Given the description of an element on the screen output the (x, y) to click on. 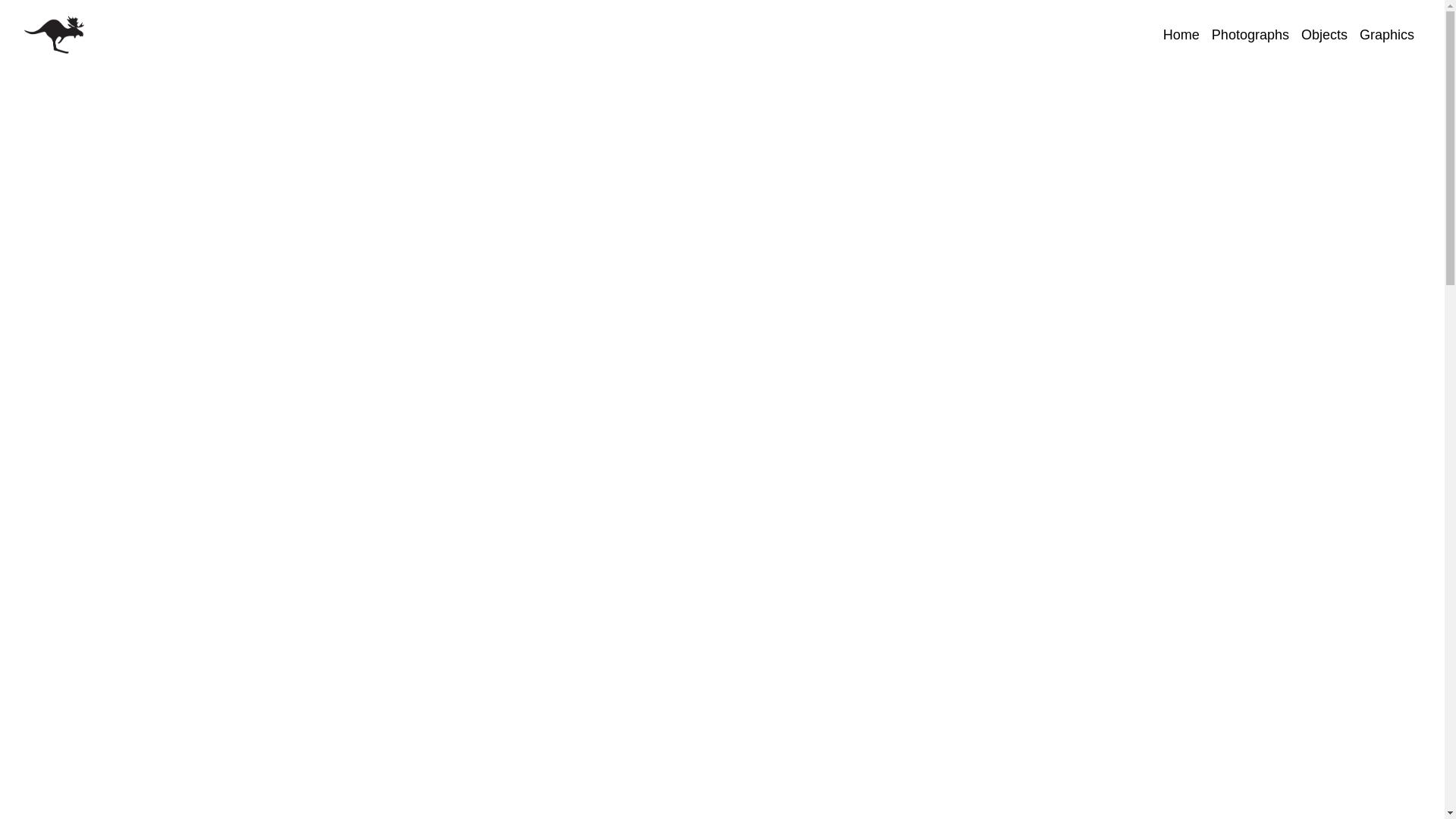
Photographs Element type: text (1250, 34)
Graphics Element type: text (1386, 34)
Objects Element type: text (1324, 34)
Home Element type: text (1181, 34)
